Given the description of an element on the screen output the (x, y) to click on. 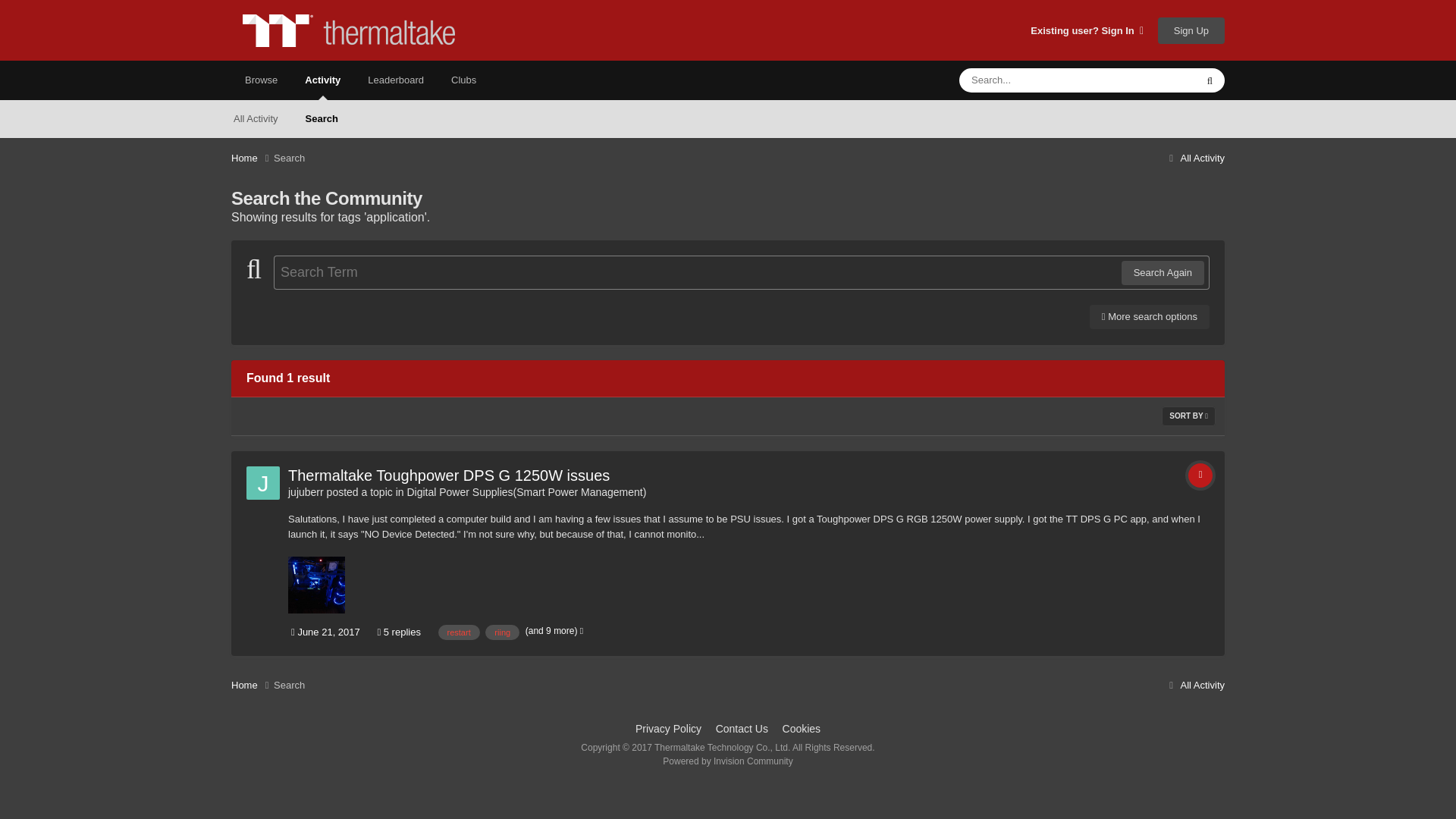
Sign Up (1190, 29)
Home (252, 158)
Home (252, 158)
Search Again (1162, 273)
Find other content tagged with 'riing' (501, 631)
Browse (261, 79)
More search options (1149, 316)
Find other content tagged with 'restart' (459, 631)
Search (288, 157)
Leaderboard (395, 79)
